Given the description of an element on the screen output the (x, y) to click on. 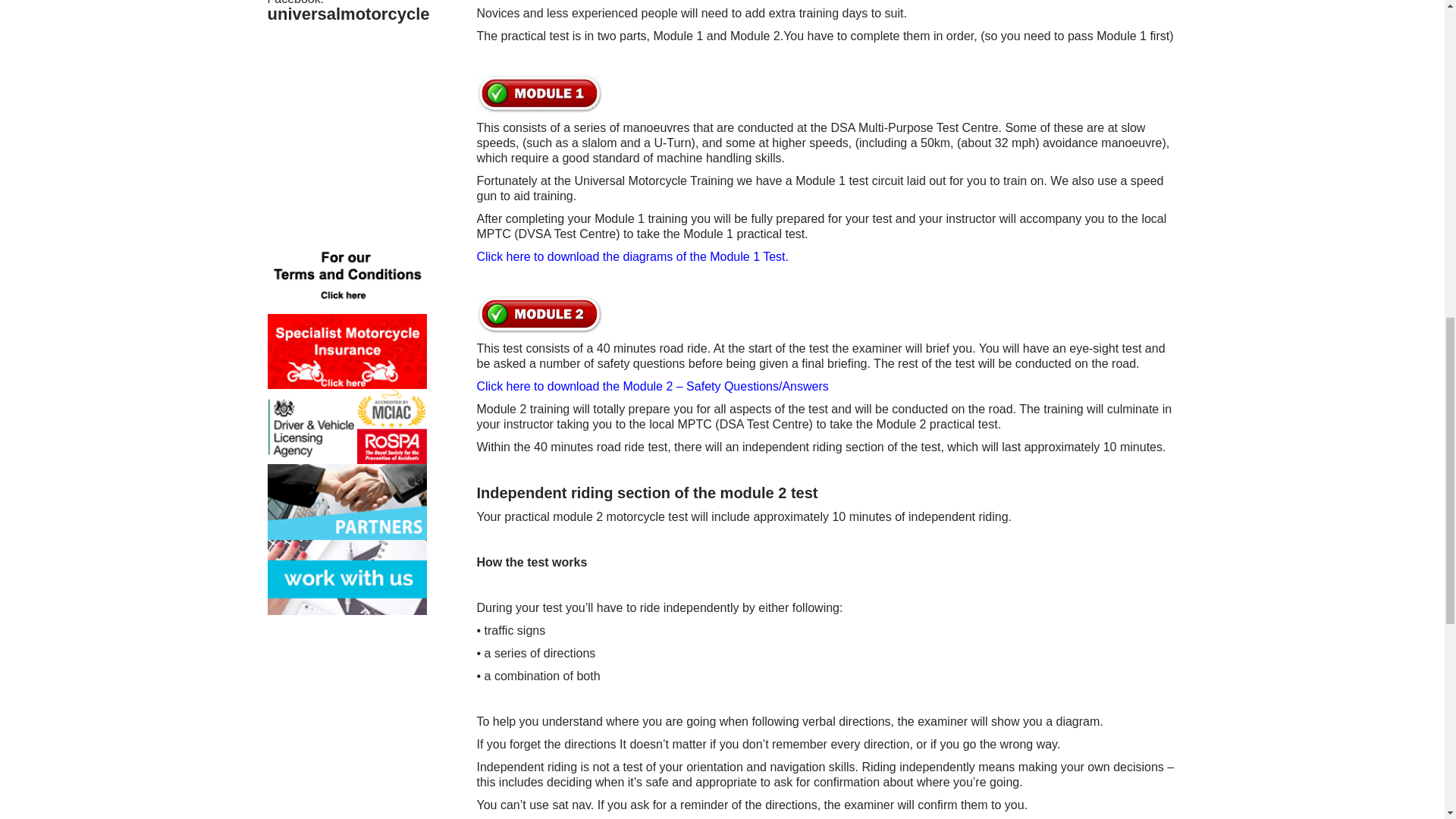
Module 2 Questions and Answers (652, 386)
universalmotorcycle (347, 13)
Module 1 Diagrams (632, 256)
